Given the description of an element on the screen output the (x, y) to click on. 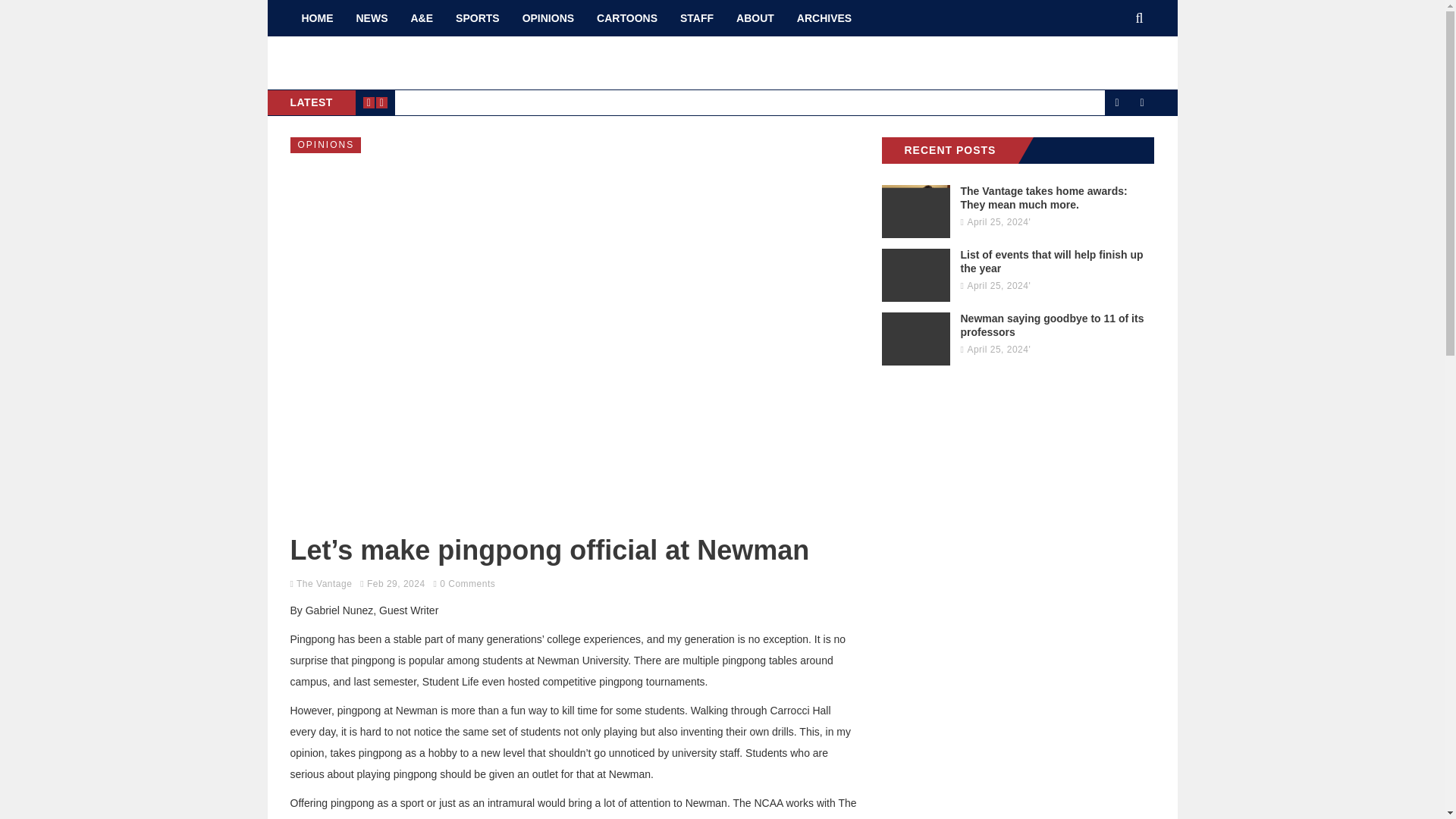
NEWS (370, 18)
HOME (316, 18)
OPINIONS (548, 18)
ARCHIVES (824, 18)
STAFF (696, 18)
The Vantage (324, 583)
ABOUT (755, 18)
OPINIONS (325, 145)
